Given the description of an element on the screen output the (x, y) to click on. 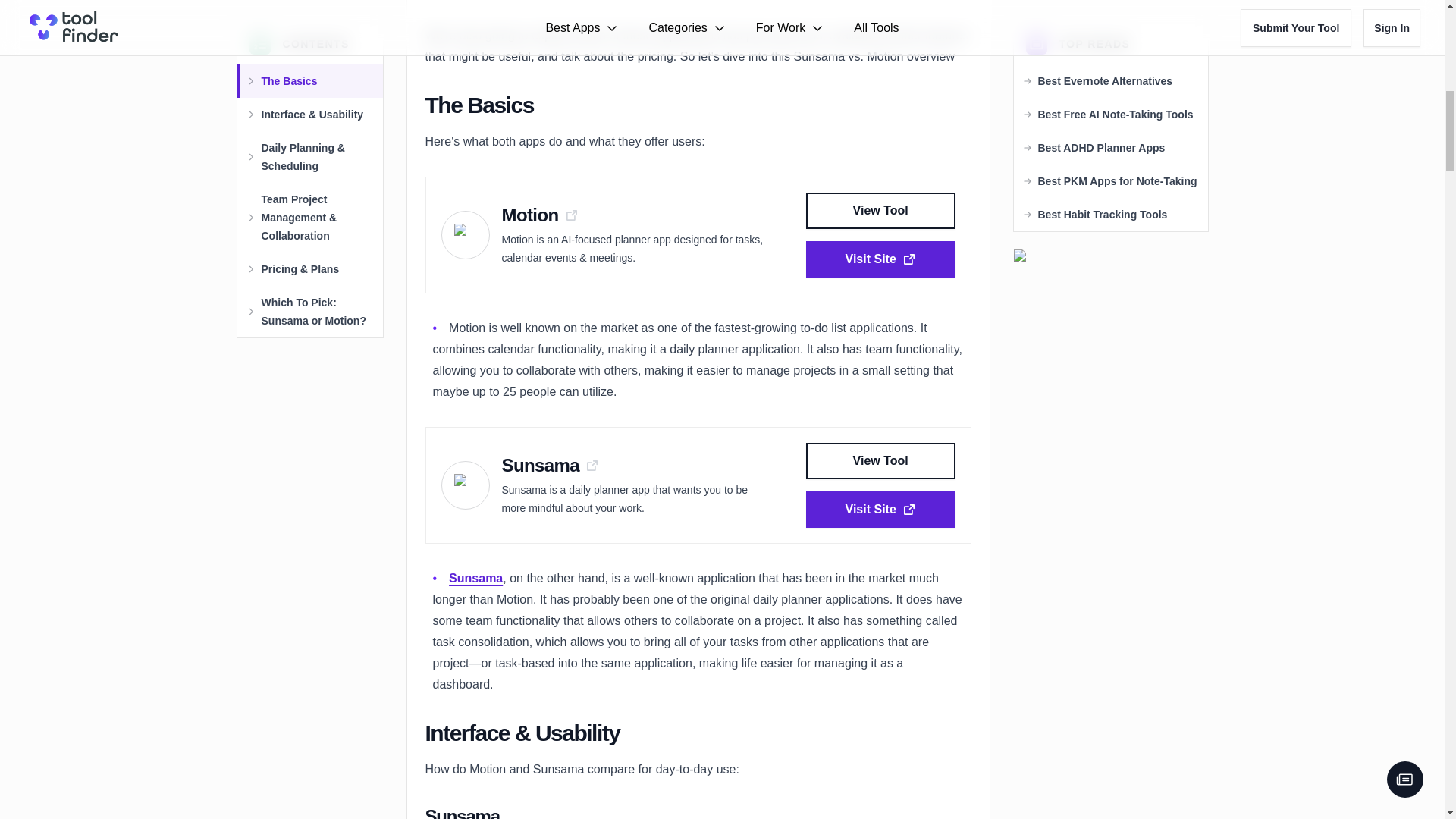
View Tool (880, 210)
Visit Site (880, 258)
View Tool (880, 461)
Sunsama (475, 577)
Visit Site (880, 509)
